Given the description of an element on the screen output the (x, y) to click on. 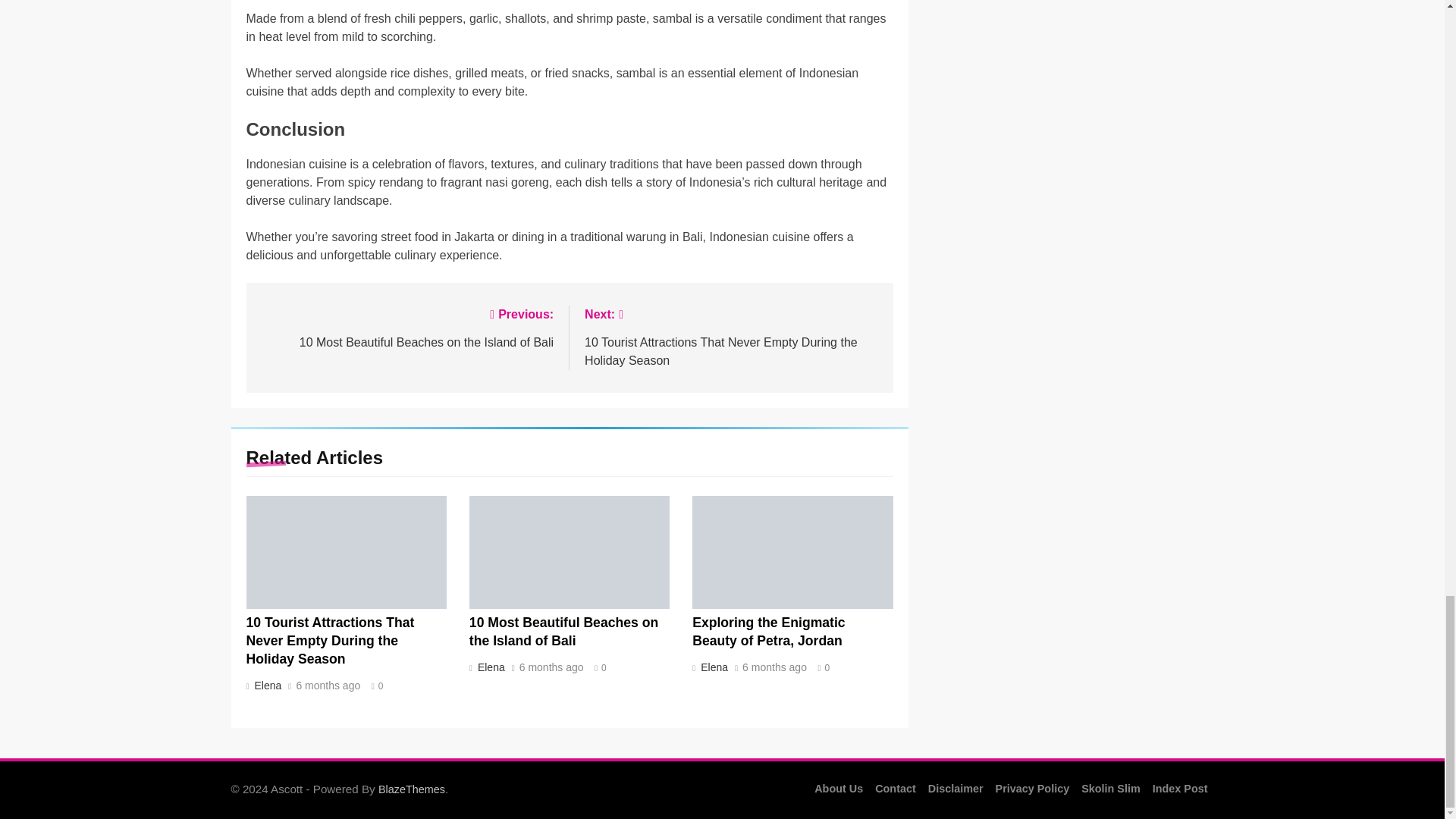
Elena (266, 685)
6 months ago (774, 667)
10 Most Beautiful Beaches on the Island of Bali (563, 631)
6 months ago (551, 667)
6 months ago (327, 685)
Elena (713, 666)
Elena (406, 326)
